Given the description of an element on the screen output the (x, y) to click on. 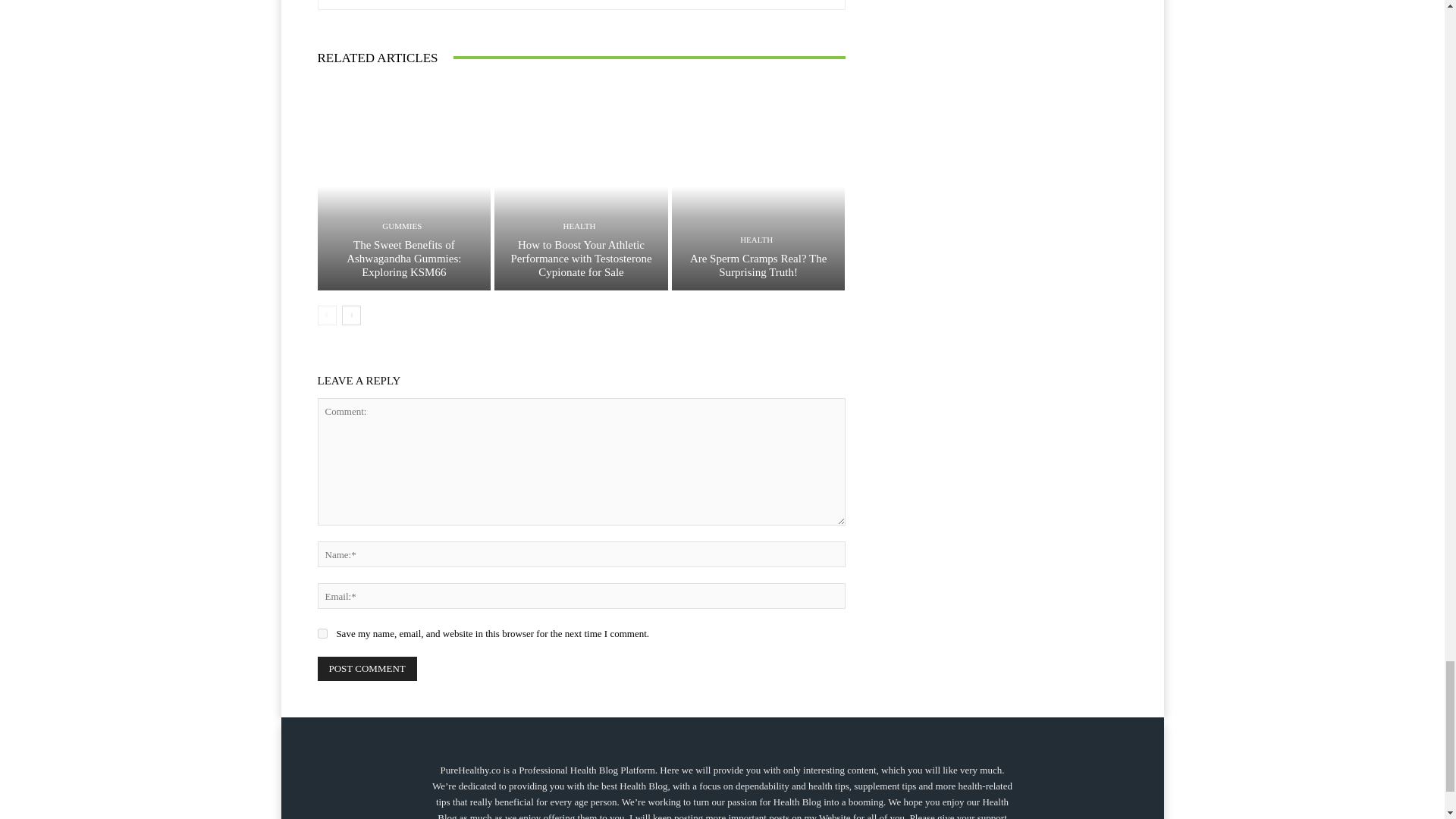
yes (321, 633)
Post Comment (366, 668)
